Given the description of an element on the screen output the (x, y) to click on. 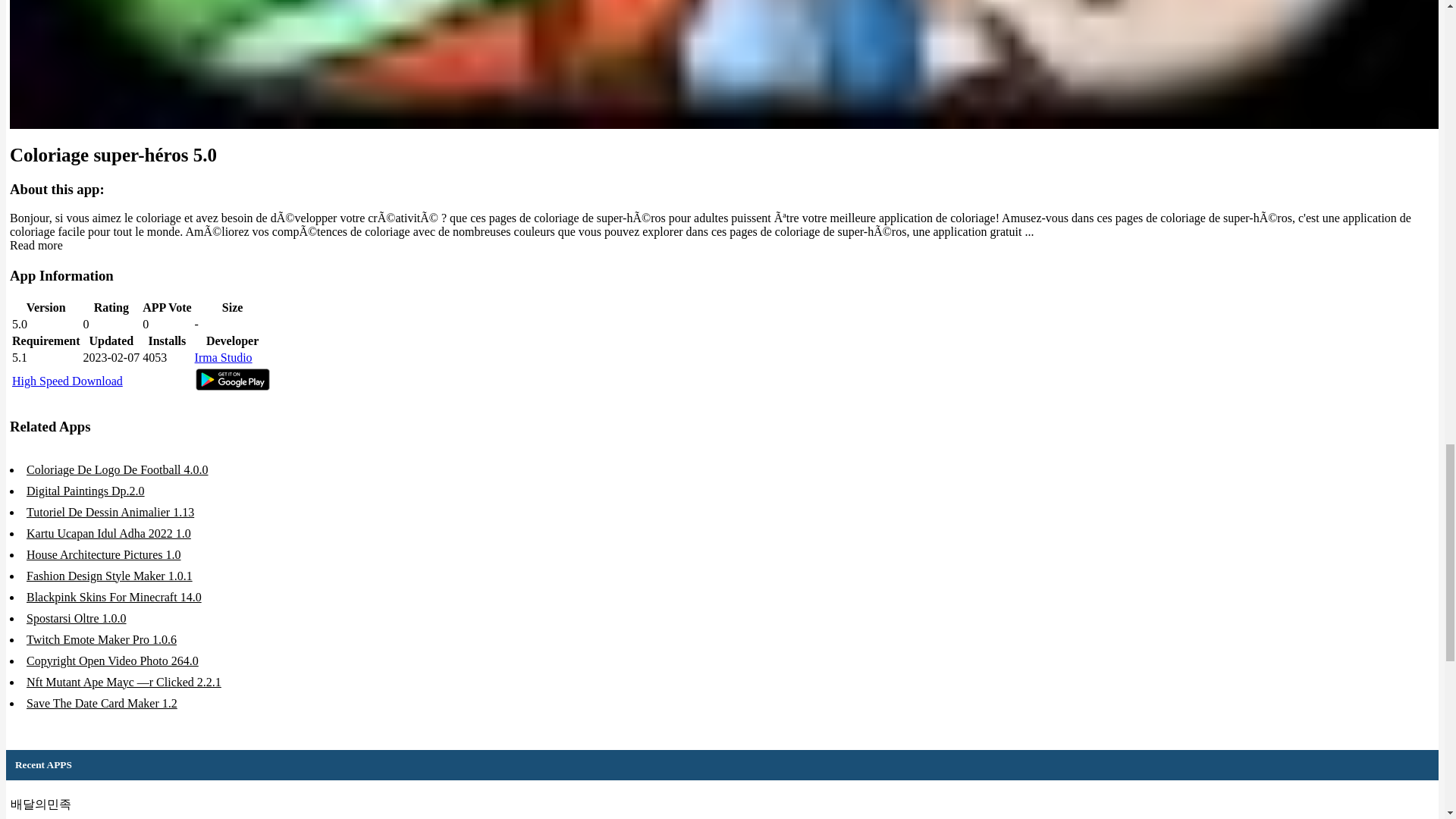
Irma Studio (223, 357)
Read more (36, 245)
High Speed Download (66, 380)
